Given the description of an element on the screen output the (x, y) to click on. 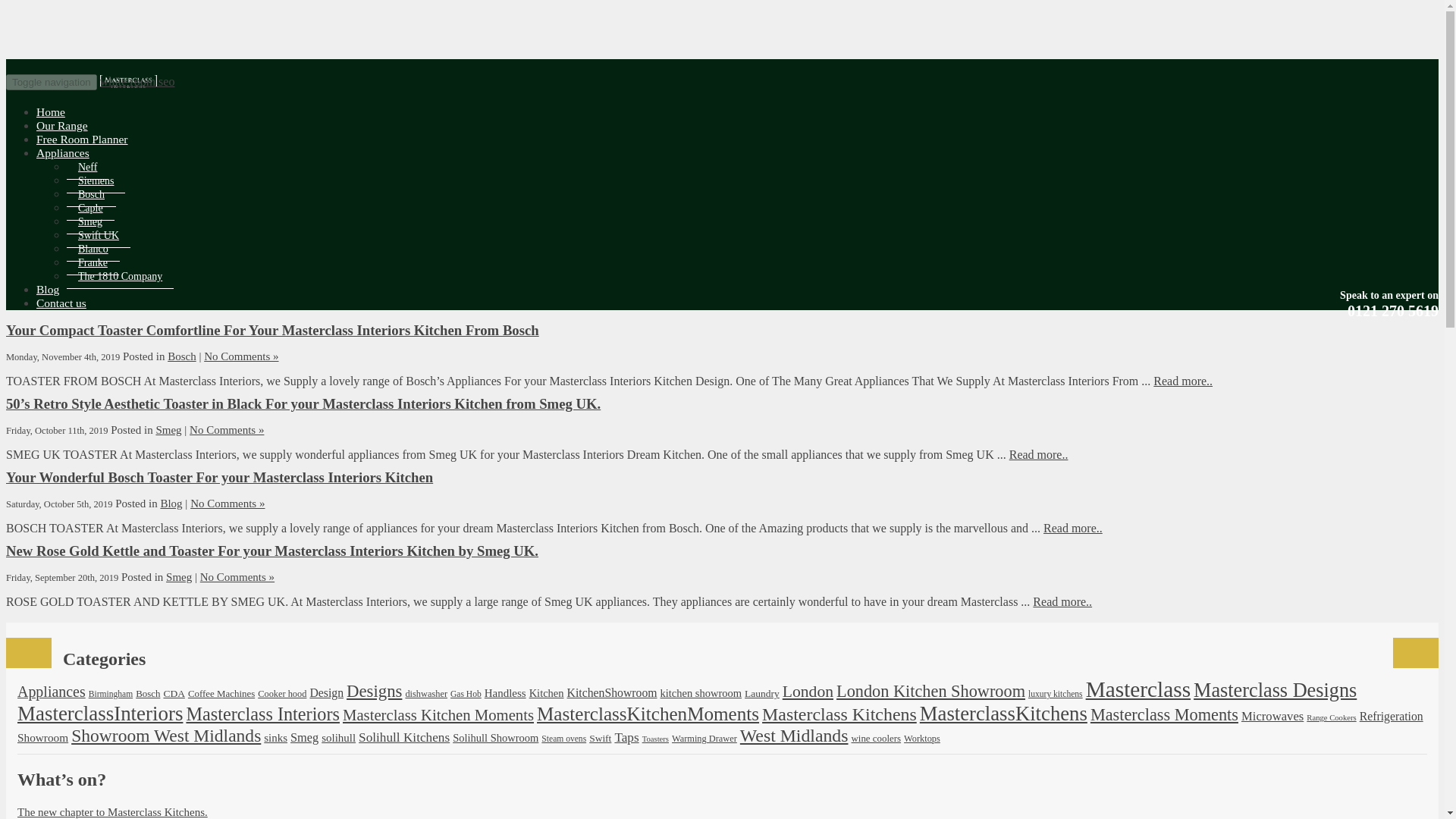
The 1810 Company (119, 276)
white room seo (137, 81)
Coffee Machines (220, 693)
Smeg (167, 429)
Blog (47, 289)
Bosch (91, 194)
Our Range (61, 125)
Blanco (92, 249)
Appliances (62, 152)
Swift UK (98, 235)
Bosch (147, 693)
Read more.. (1038, 454)
Bosch (181, 356)
